Given the description of an element on the screen output the (x, y) to click on. 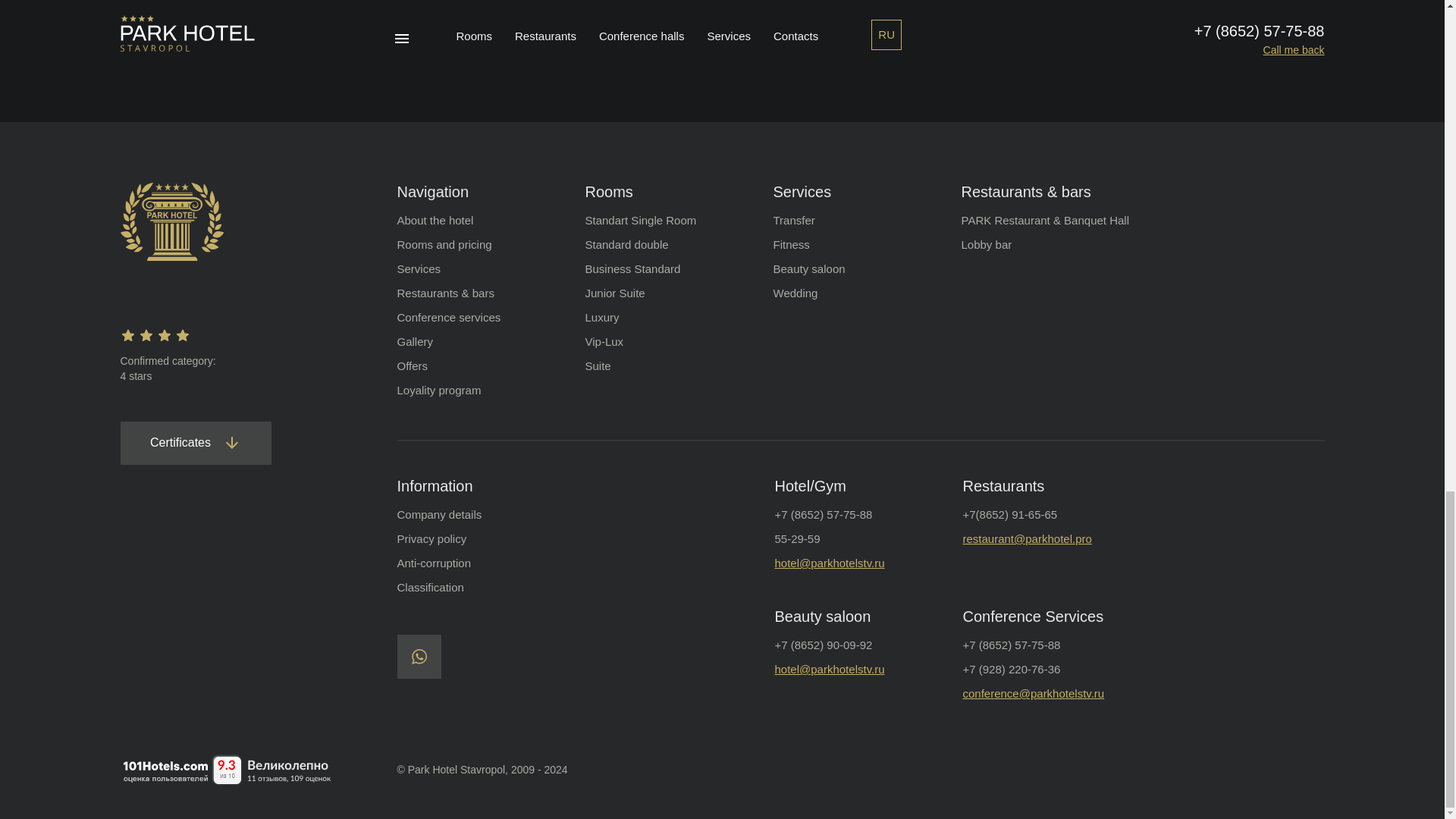
Certificates (194, 443)
